Given the description of an element on the screen output the (x, y) to click on. 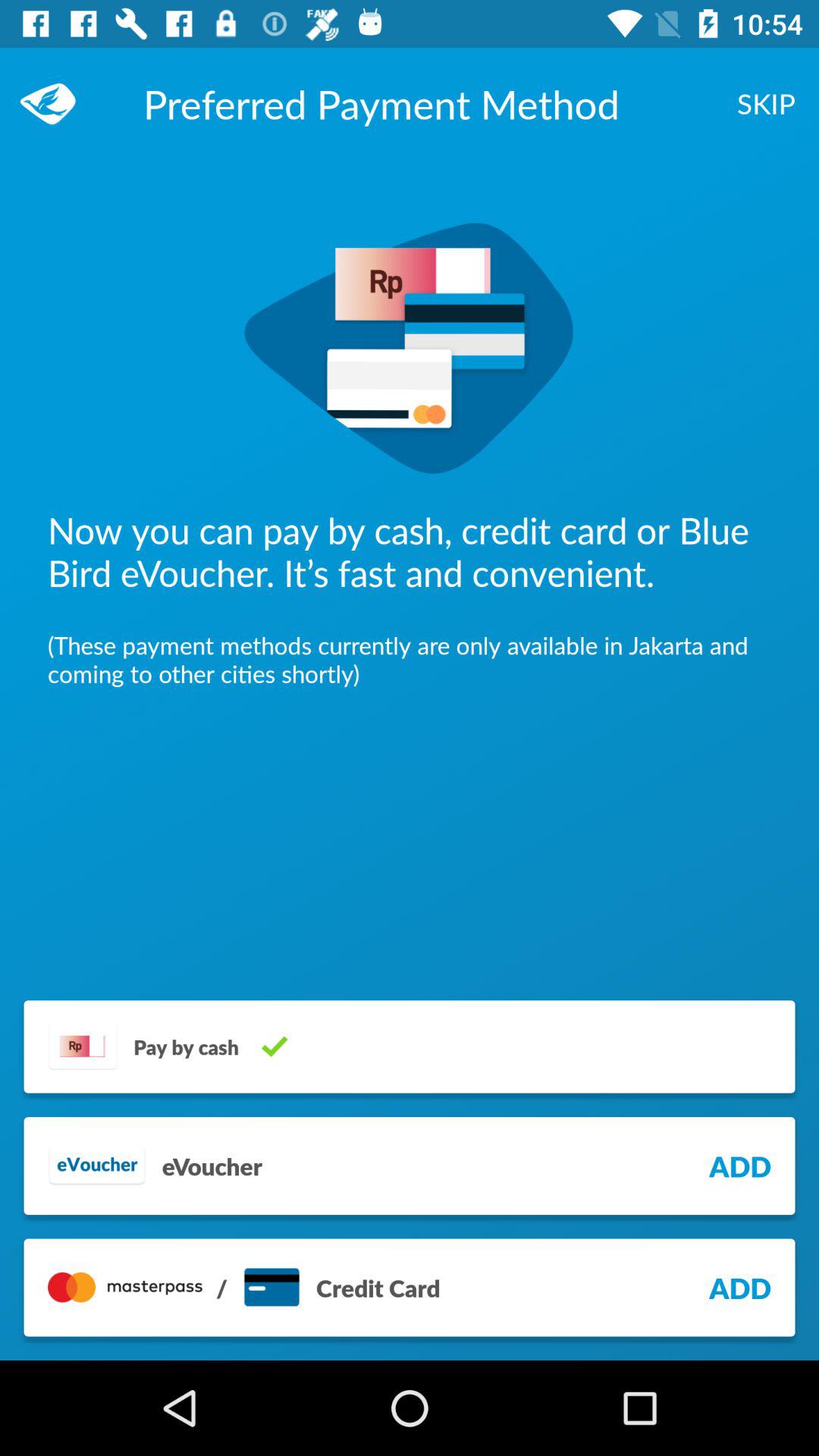
launch the item above the now you can item (55, 103)
